Given the description of an element on the screen output the (x, y) to click on. 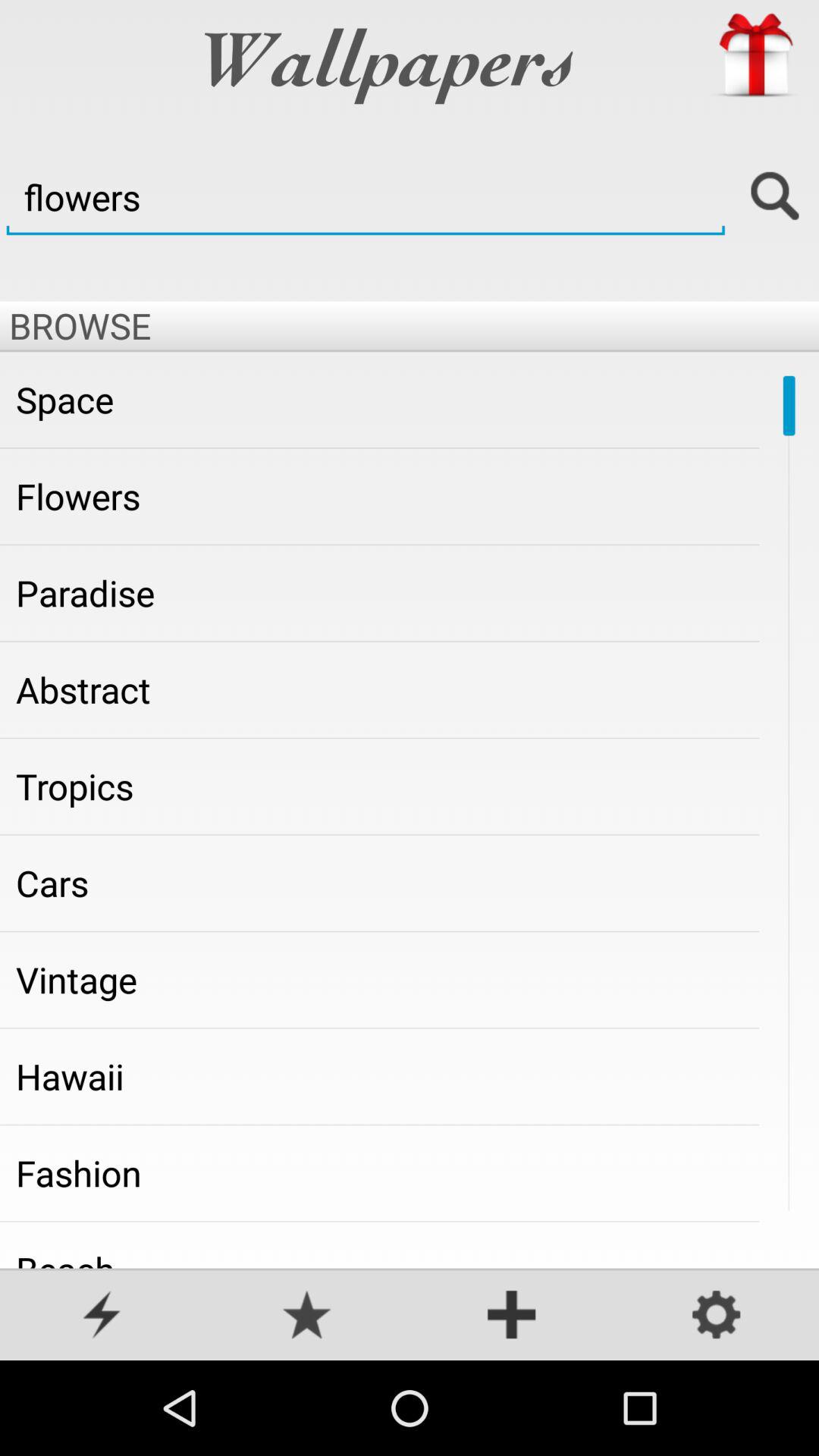
go to favorites (306, 1316)
